Given the description of an element on the screen output the (x, y) to click on. 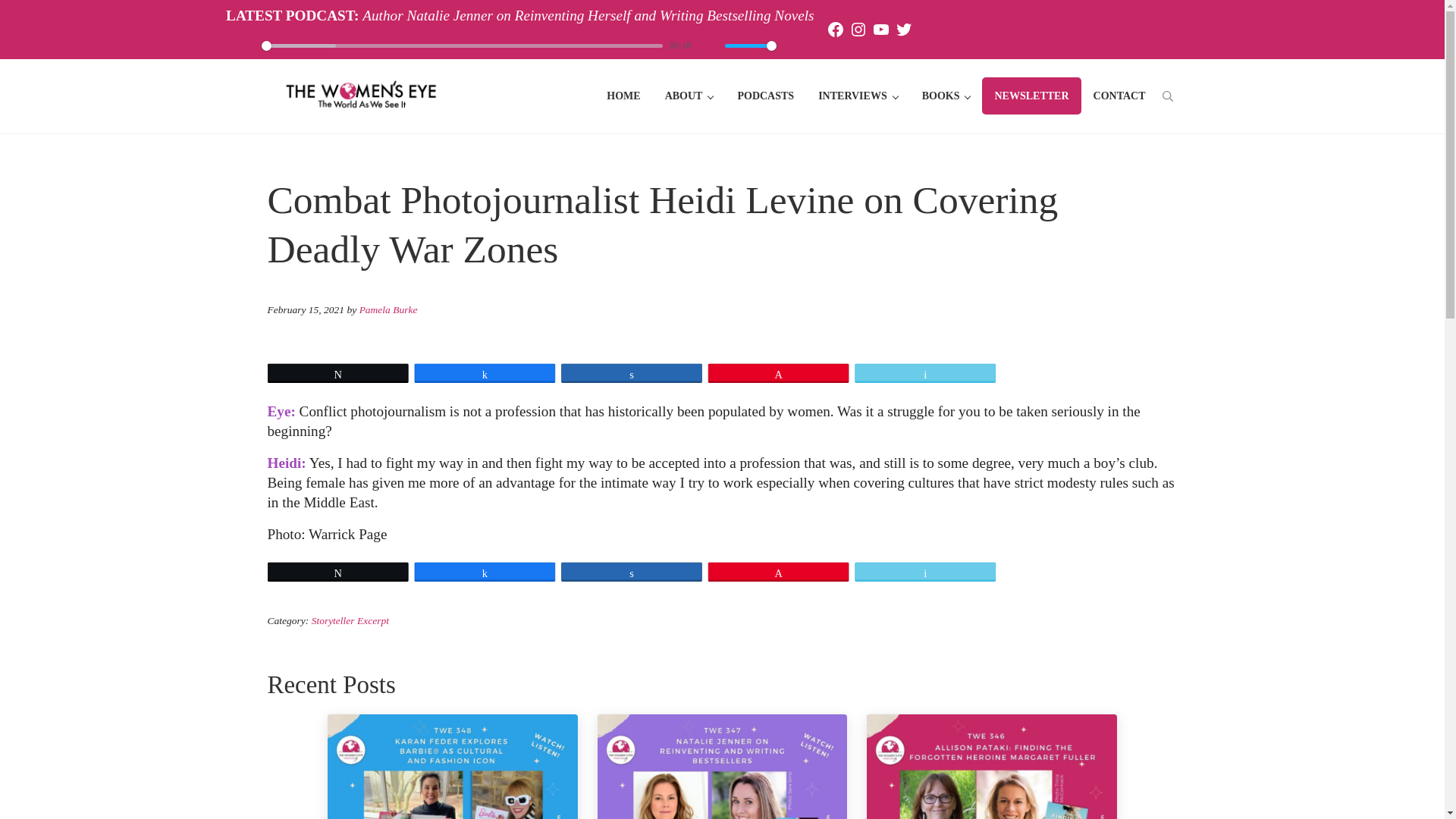
YouTube (880, 29)
1 (750, 44)
Settings (794, 45)
BOOKS (946, 95)
Mute (708, 45)
NEWSLETTER (1030, 95)
INTERVIEWS (858, 95)
Twitter (903, 29)
PODCASTS (765, 95)
